Given the description of an element on the screen output the (x, y) to click on. 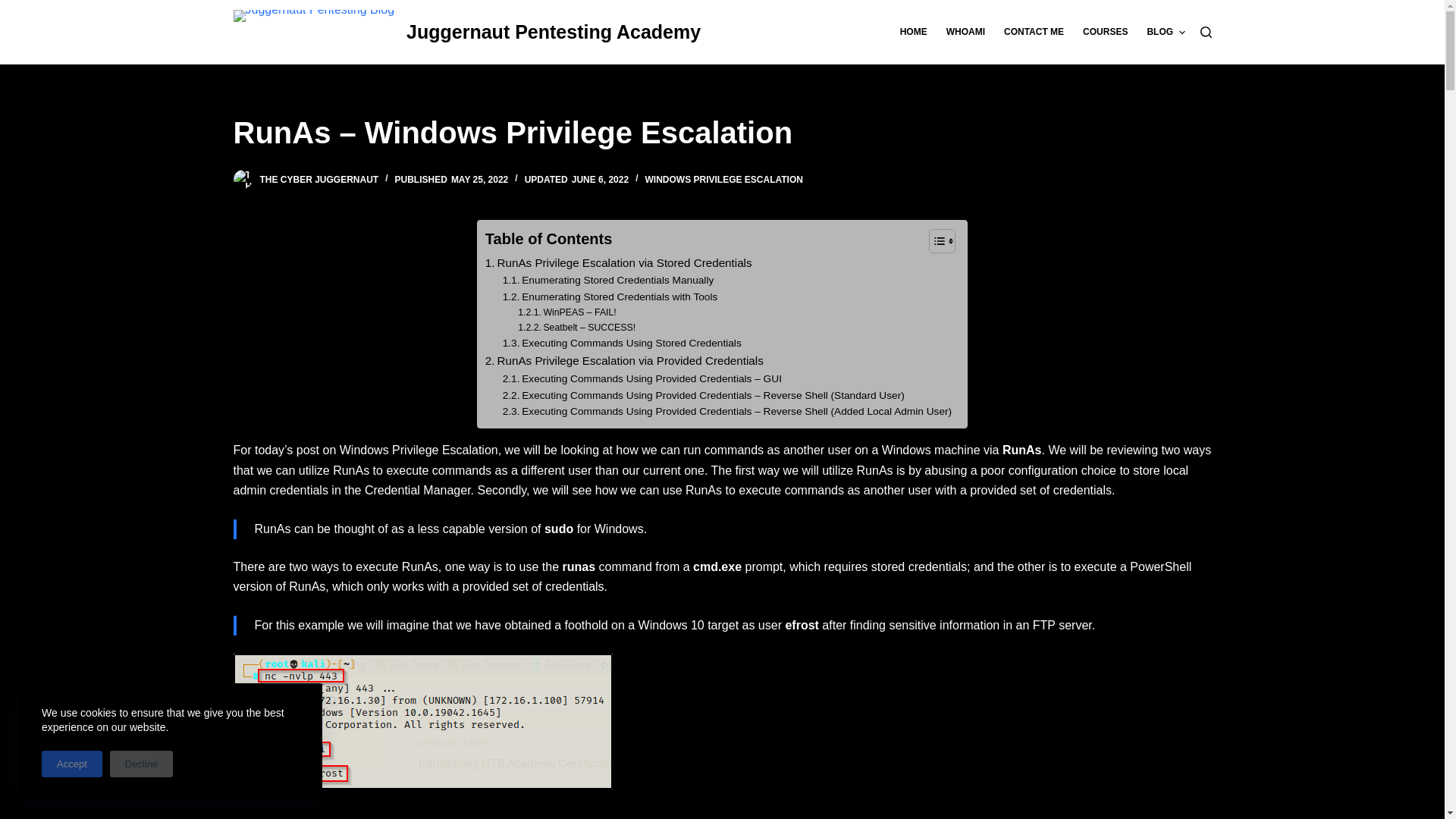
WHOAMI (965, 32)
Enumerating Stored Credentials with Tools (609, 297)
Decline (141, 764)
RunAs Privilege Escalation via Provided Credentials (623, 361)
Executing Commands Using Stored Credentials (621, 343)
RunAs Privilege Escalation via Stored Credentials (618, 262)
Accept (71, 764)
Juggernaut Pentesting Academy (553, 31)
WINDOWS PRIVILEGE ESCALATION (723, 179)
COURSES (1105, 32)
Enumerating Stored Credentials Manually (608, 280)
RunAs Privilege Escalation via Stored Credentials (618, 262)
Enumerating Stored Credentials with Tools (609, 297)
THE CYBER JUGGERNAUT (318, 179)
Enumerating Stored Credentials Manually (608, 280)
